Given the description of an element on the screen output the (x, y) to click on. 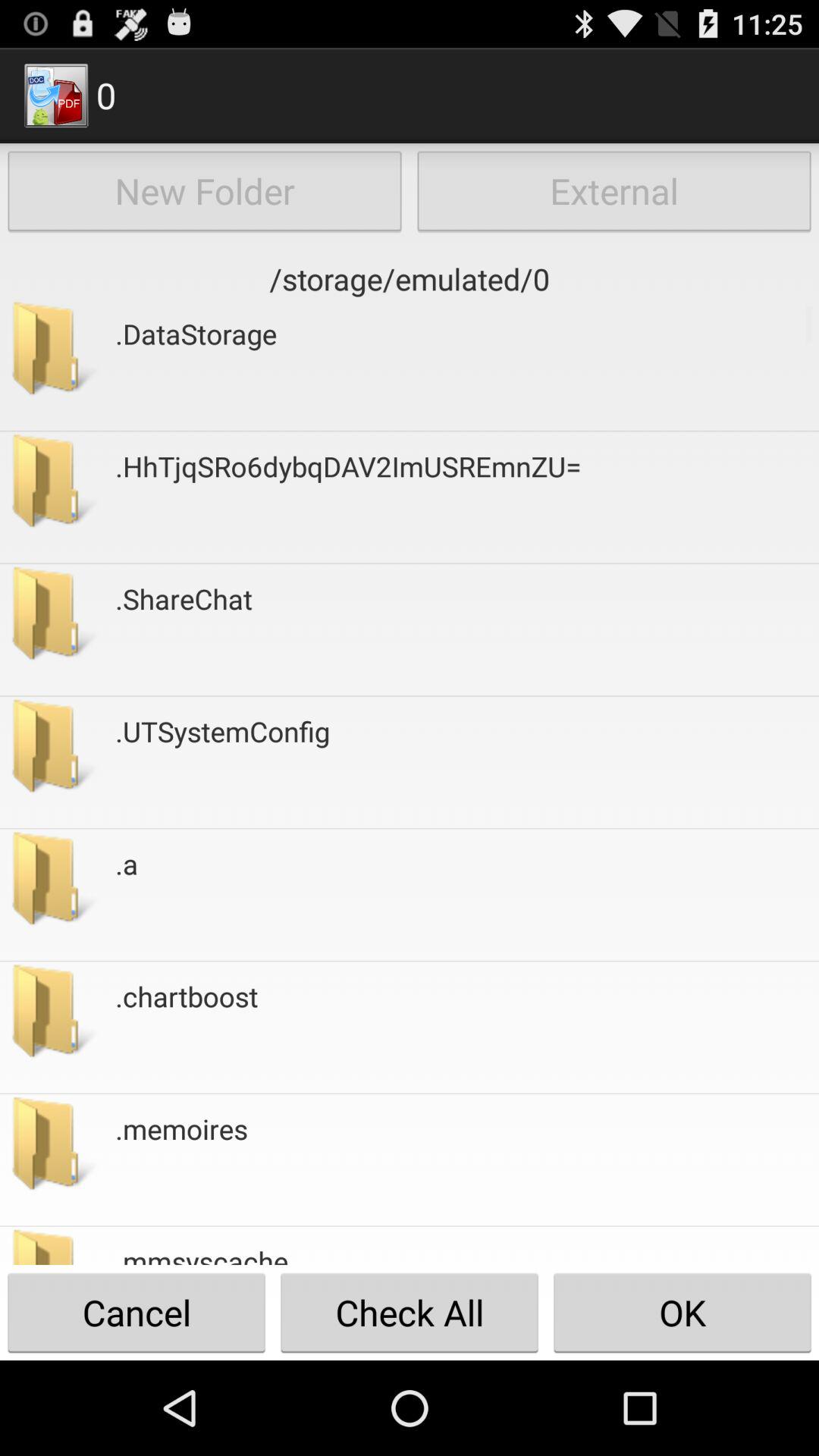
turn off the .mmsyscache app (201, 1253)
